Given the description of an element on the screen output the (x, y) to click on. 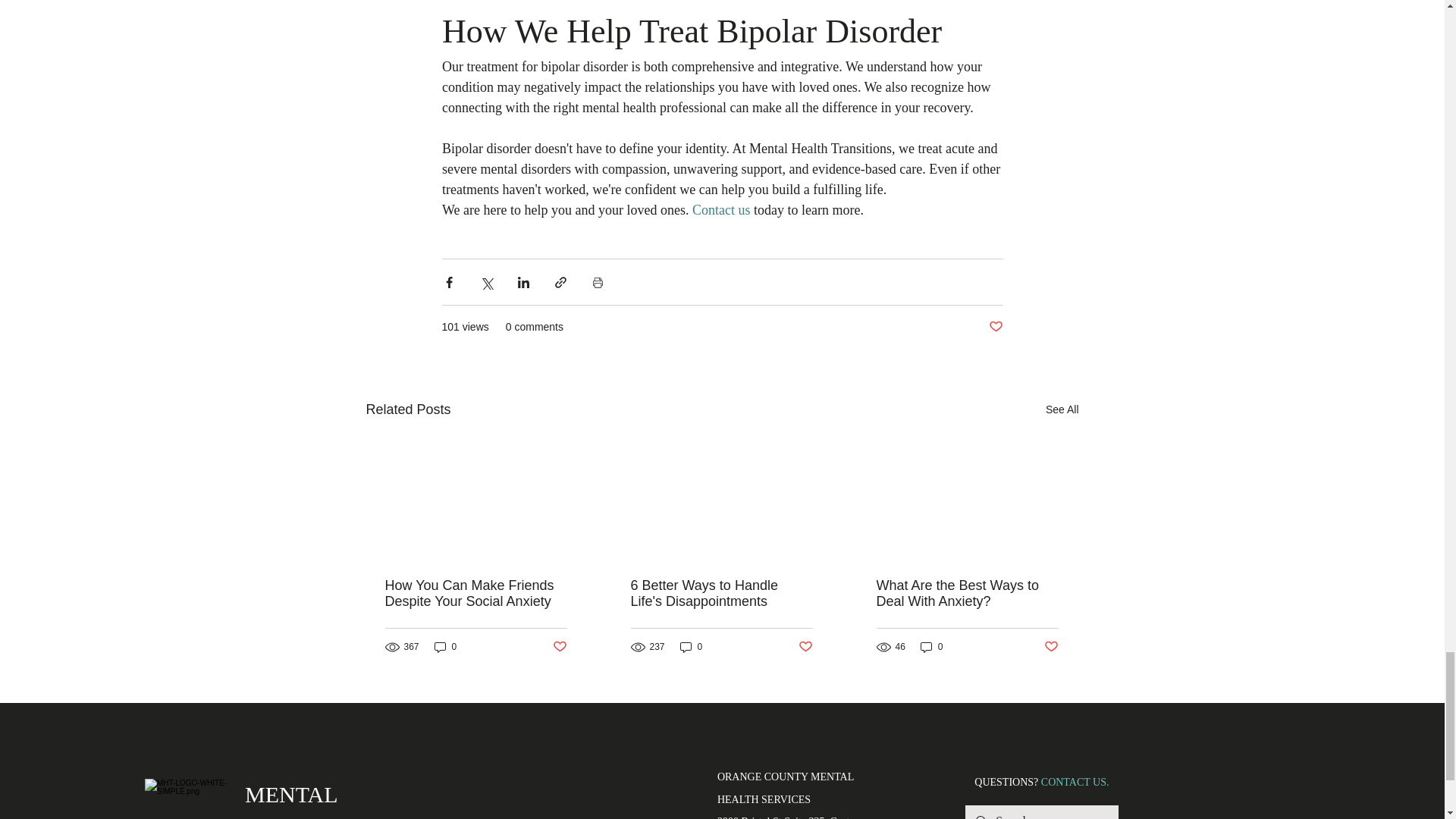
0 (445, 646)
Post not marked as liked (558, 647)
What Are the Best Ways to Deal With Anxiety? (967, 593)
Post not marked as liked (995, 326)
Post not marked as liked (804, 647)
6 Better Ways to Handle Life's Disappointments (721, 593)
0 (691, 646)
See All (1061, 409)
How You Can Make Friends Despite Your Social Anxiety (476, 593)
0 (931, 646)
